Given the description of an element on the screen output the (x, y) to click on. 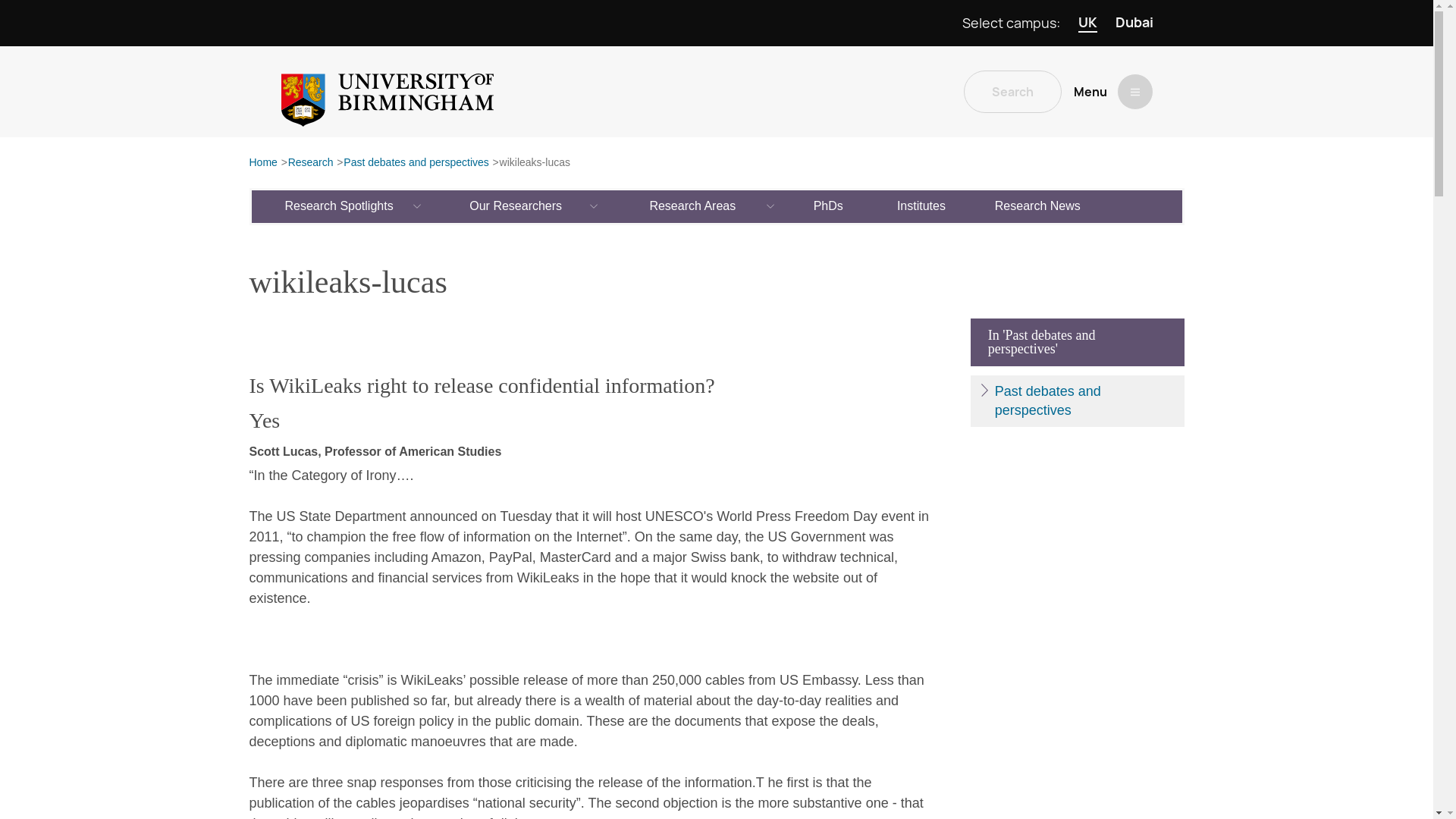
Past debates and perspectives (415, 163)
Home (262, 163)
Research Areas (693, 205)
Search (1012, 91)
Our Researchers (516, 205)
wikileaks-lucas (534, 163)
UK (1087, 23)
Research Spotlights (339, 205)
Research (310, 163)
Dubai (1134, 23)
